Given the description of an element on the screen output the (x, y) to click on. 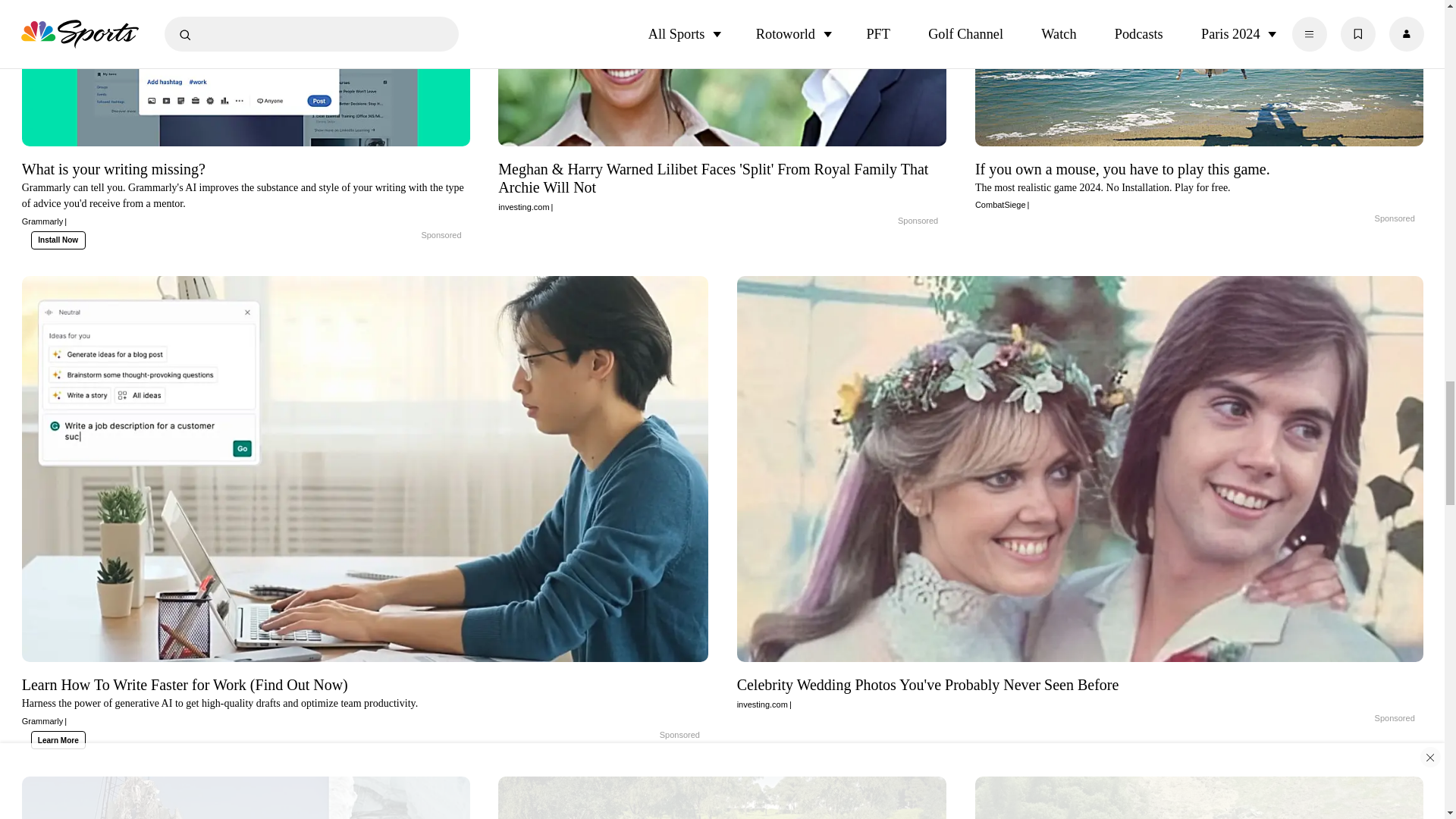
What is your writing missing? (404, 235)
What is your writing missing? (245, 192)
What is your writing missing? (245, 77)
If you own a mouse, you have to play this game. (1199, 77)
